Given the description of an element on the screen output the (x, y) to click on. 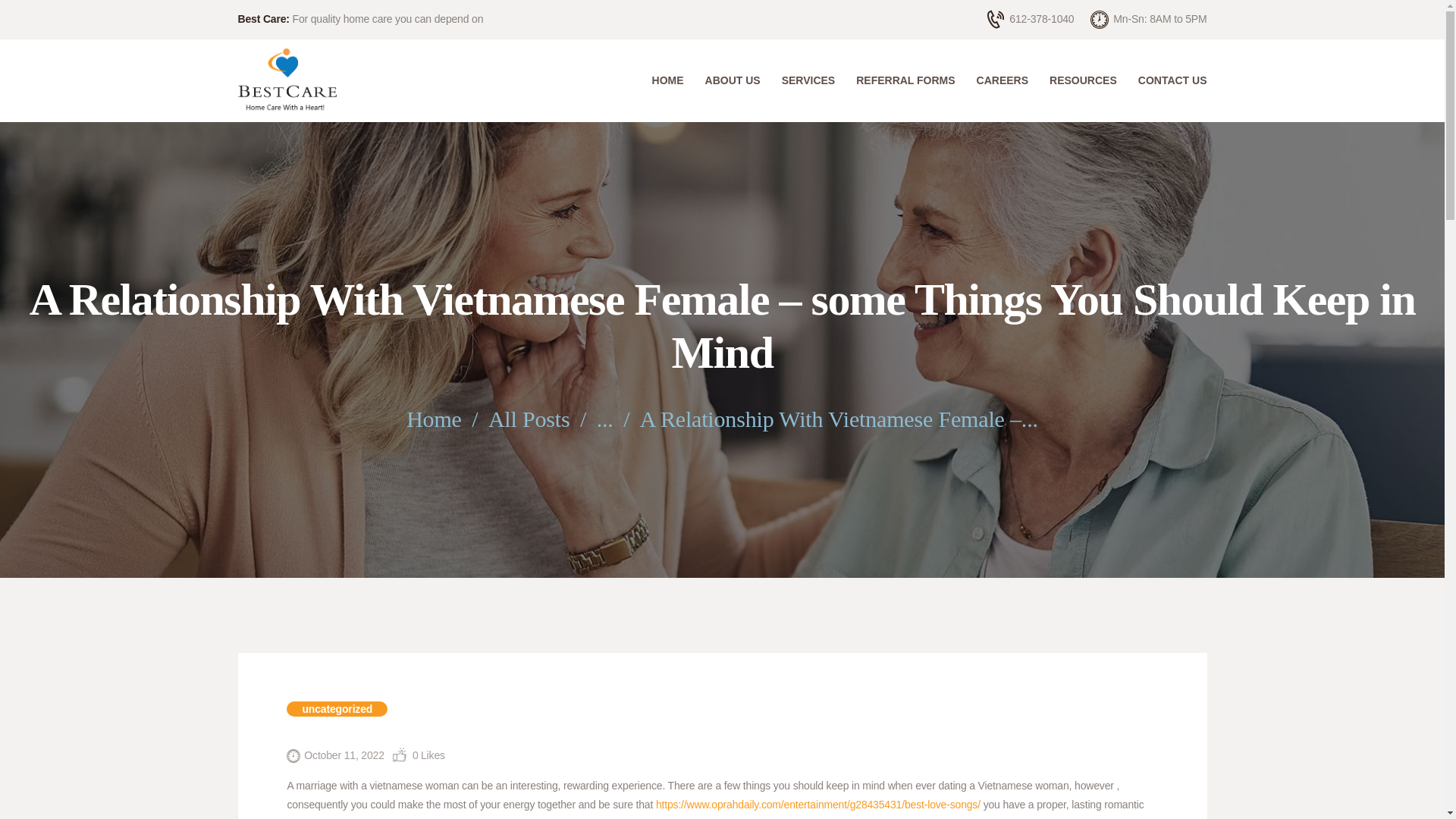
RESOURCES (1082, 80)
All Posts (528, 418)
Like (419, 755)
612-378-1040 (1029, 19)
ABOUT US (732, 80)
SERVICES (808, 80)
REFERRAL FORMS (905, 80)
Home (433, 418)
CONTACT US (1166, 80)
